Given the description of an element on the screen output the (x, y) to click on. 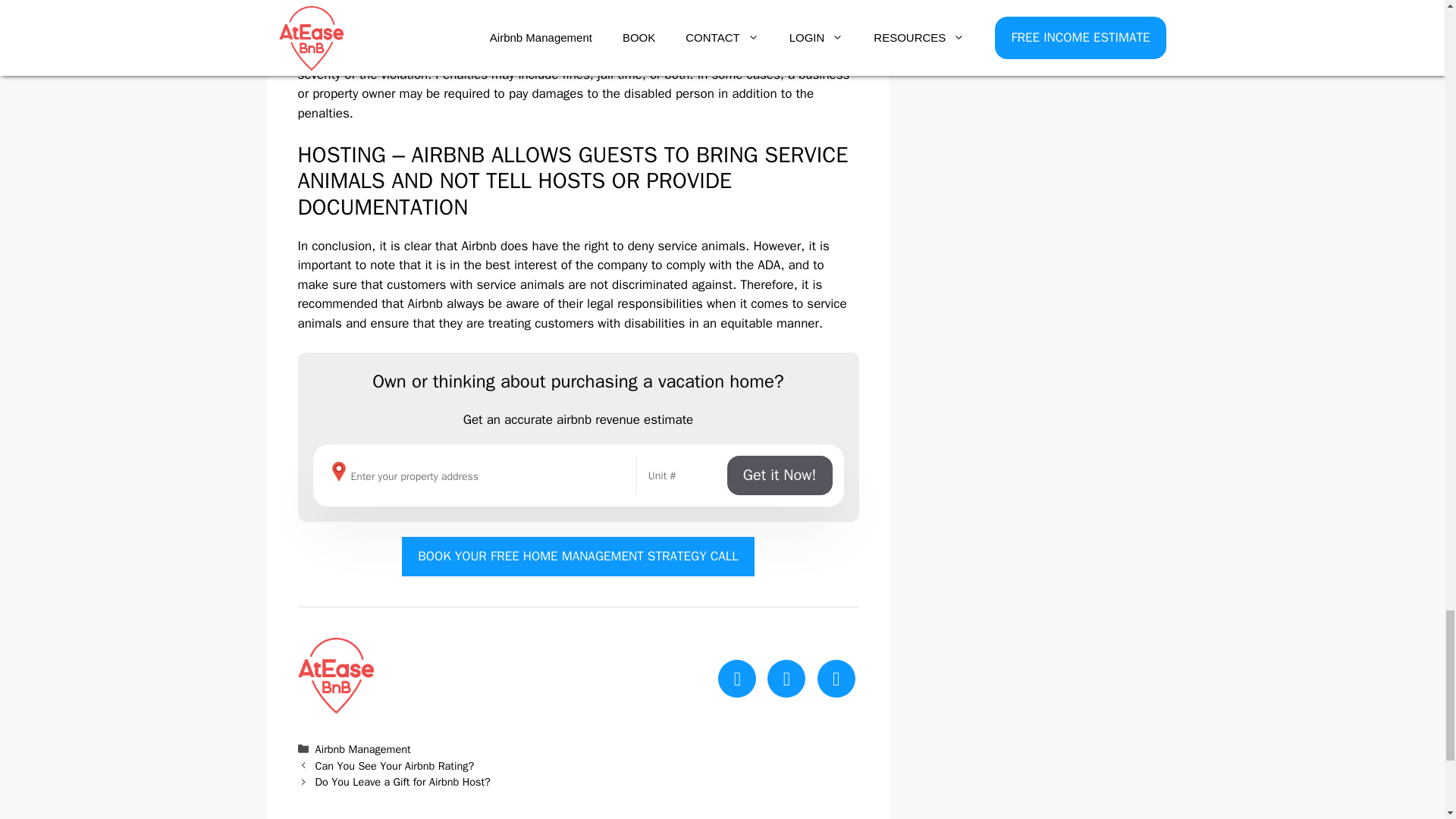
Can You See Your Airbnb Rating? (394, 766)
Do You Leave a Gift for Airbnb Host? (402, 781)
Airbnb Management (362, 748)
BOOK YOUR FREE HOME MANAGEMENT STRATEGY CALL (577, 556)
Get it Now! (779, 475)
